Given the description of an element on the screen output the (x, y) to click on. 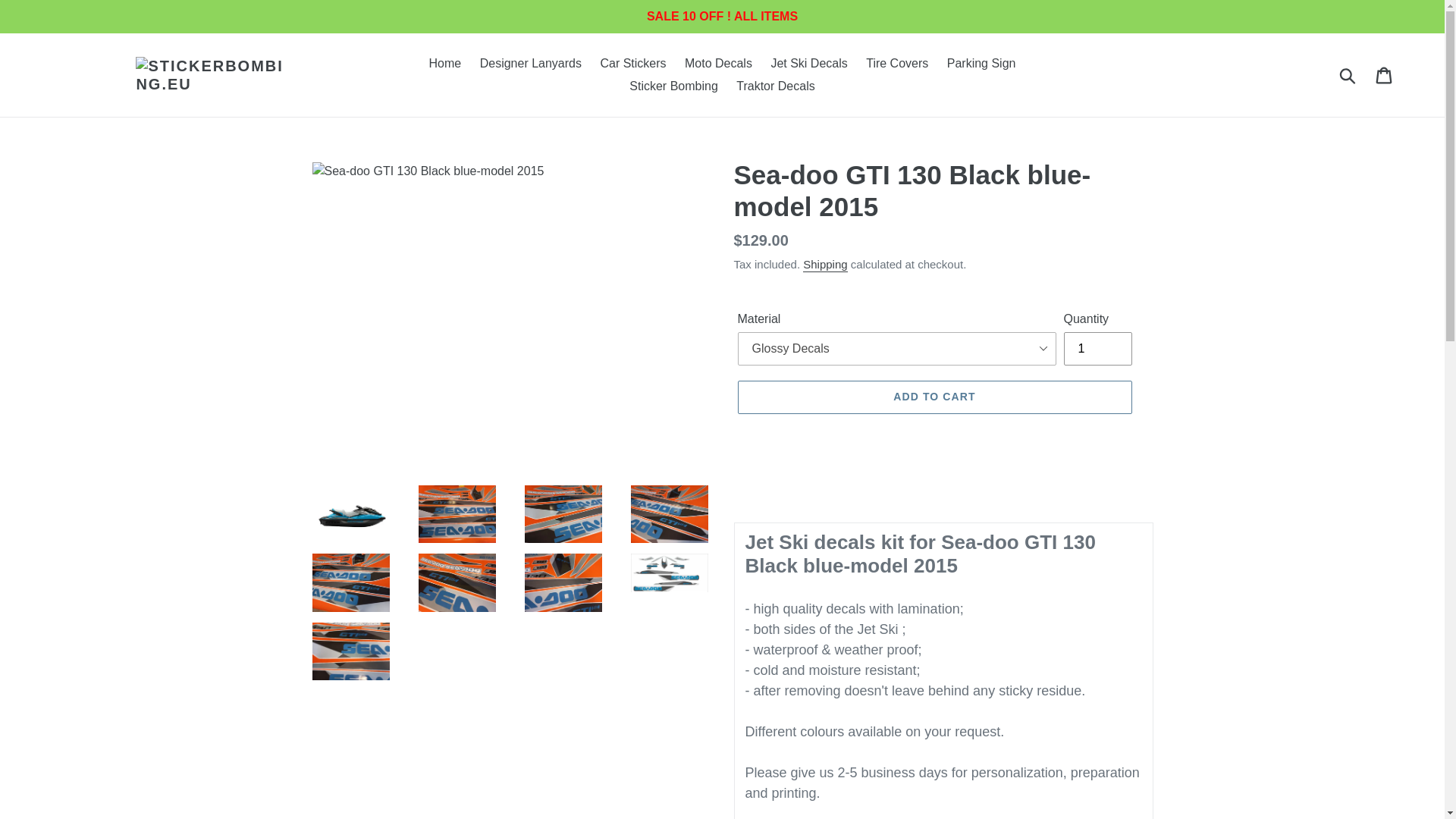
Sticker Bombing (673, 86)
Home (445, 63)
Car Stickers (632, 63)
Jet Ski Decals (808, 63)
Traktor Decals (775, 86)
Shipping (825, 264)
Cart (1385, 74)
Submit (1348, 74)
Tire Covers (897, 63)
1 (1096, 348)
Parking Sign (981, 63)
ADD TO CART (933, 397)
Moto Decals (718, 63)
Designer Lanyards (530, 63)
